Given the description of an element on the screen output the (x, y) to click on. 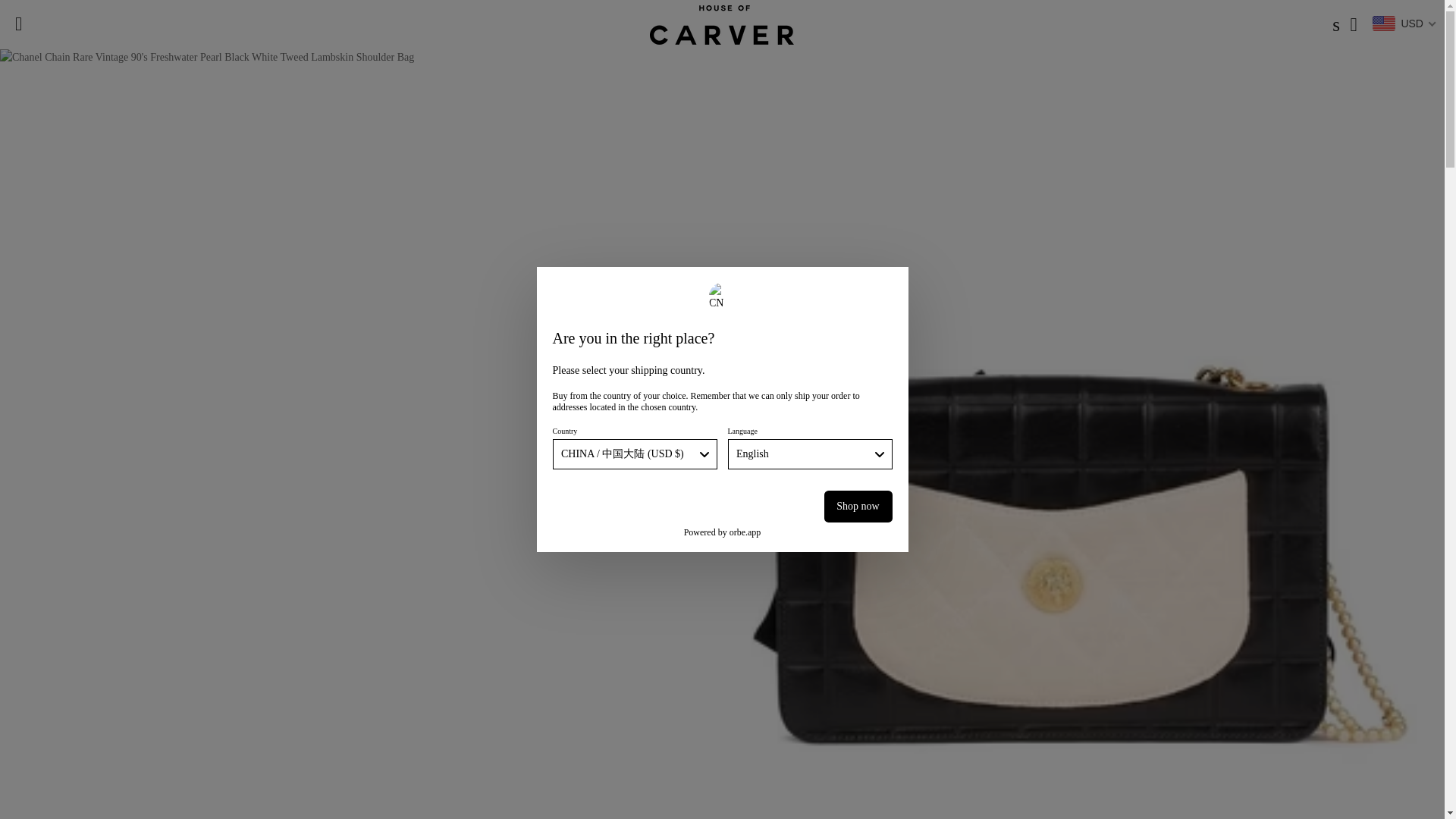
English (810, 453)
orbe.app (745, 532)
Shop now (857, 506)
